Given the description of an element on the screen output the (x, y) to click on. 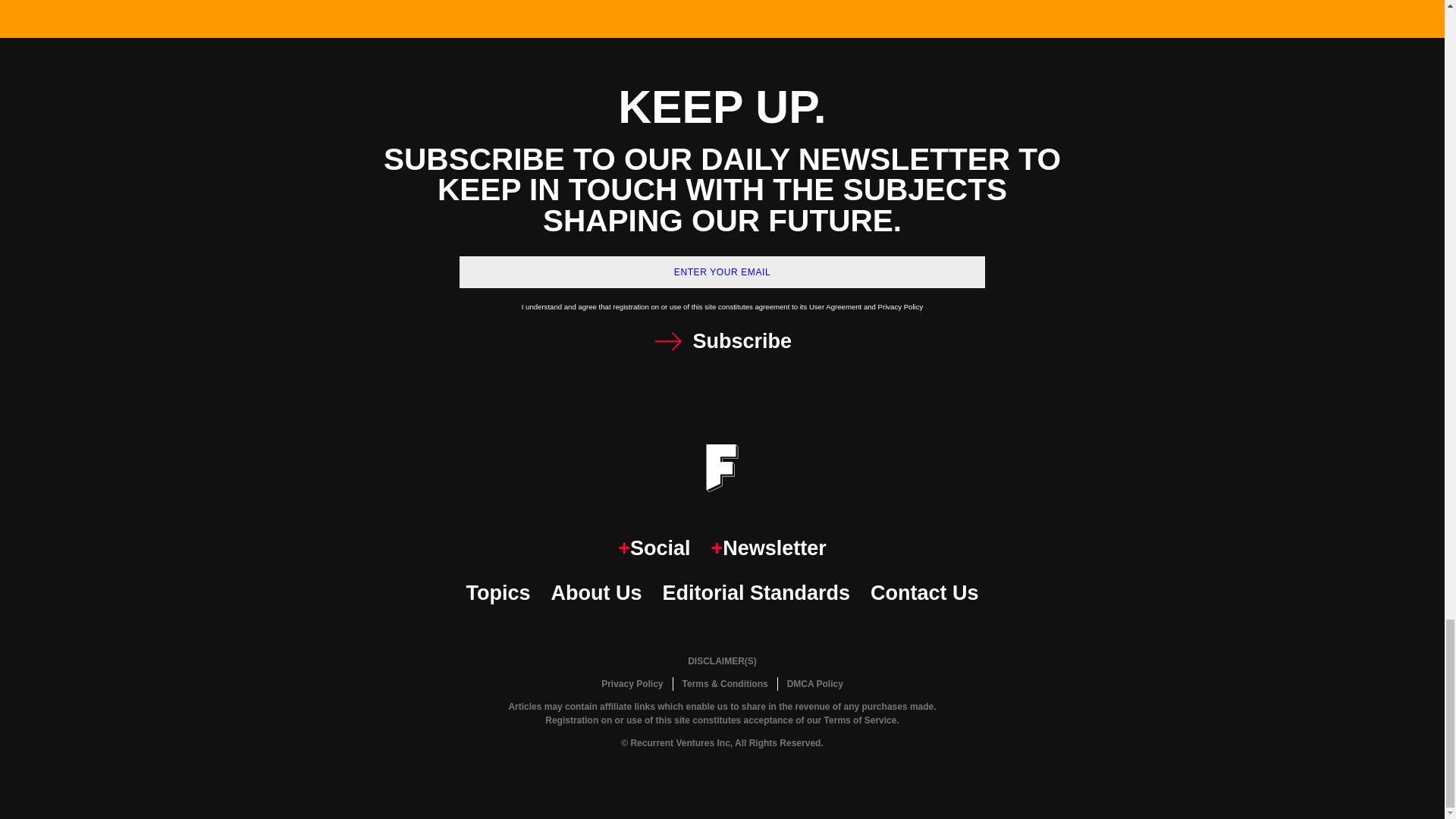
Privacy Policy (631, 684)
Editorial Standards (756, 593)
Contact Us (924, 593)
DMCA Policy (814, 684)
Topics (497, 593)
About Us (596, 593)
Subscribe (722, 341)
